Given the description of an element on the screen output the (x, y) to click on. 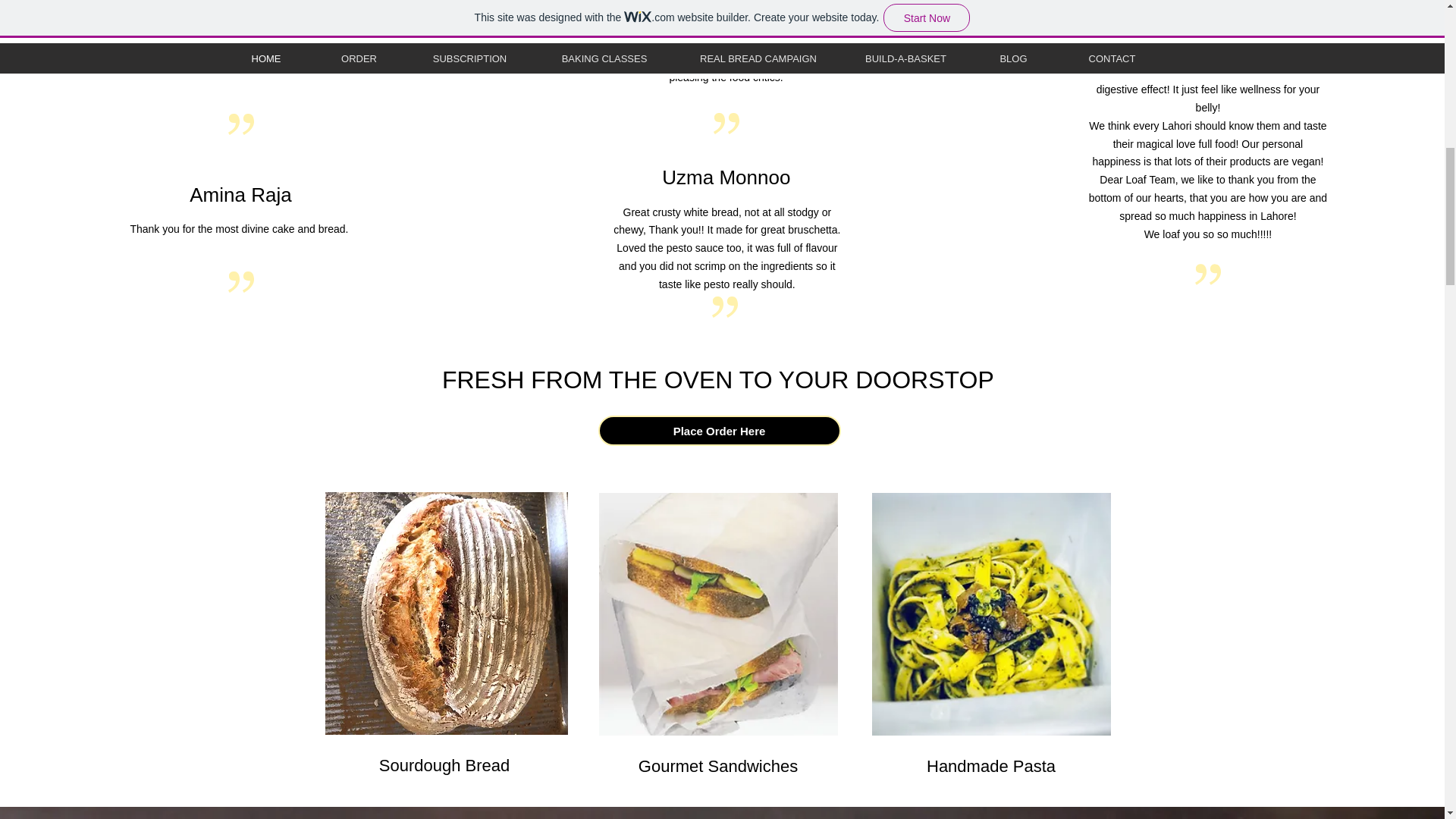
Place Order Here (718, 430)
sourdough loaf (445, 613)
